Given the description of an element on the screen output the (x, y) to click on. 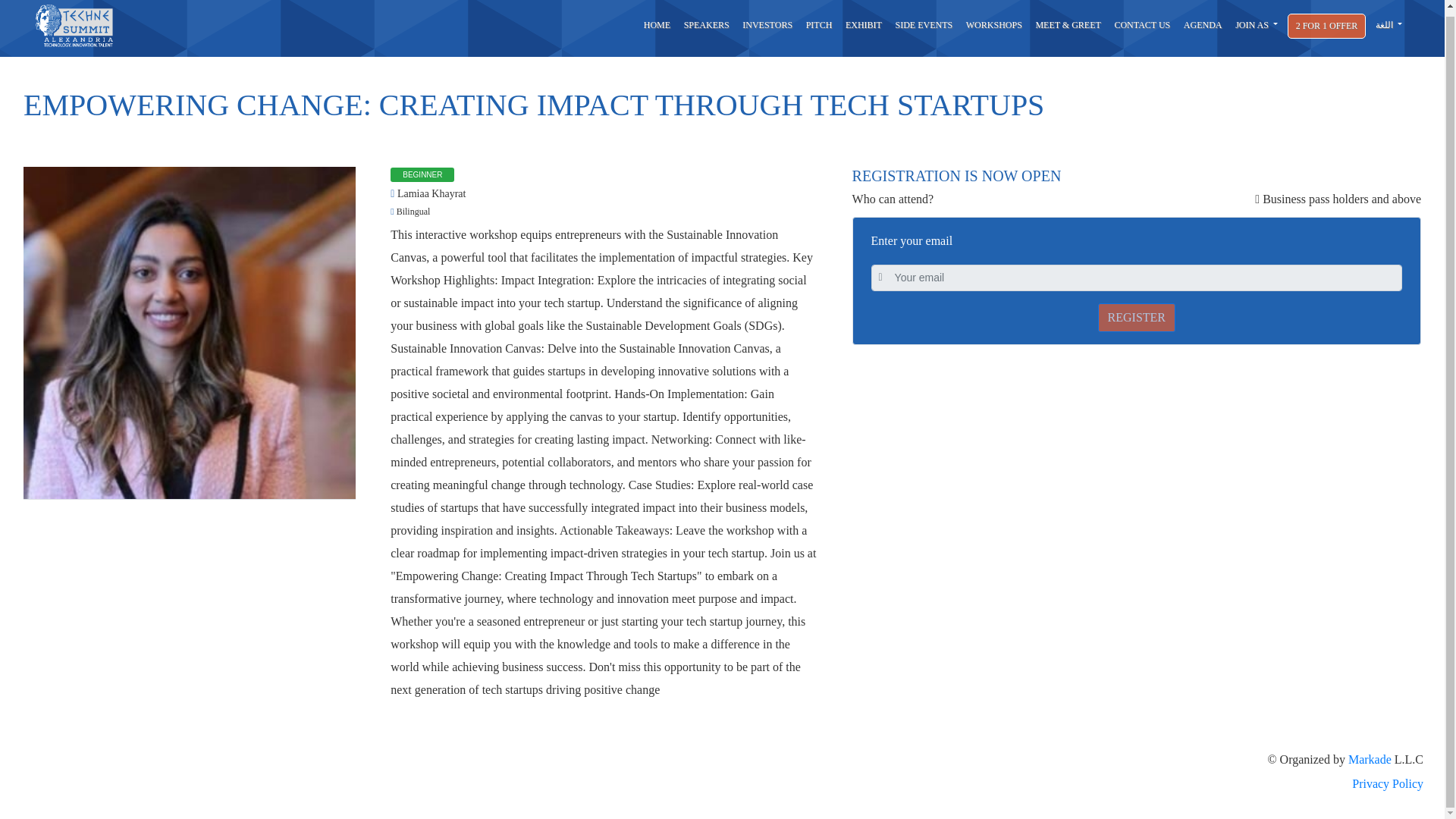
SPEAKERS (706, 24)
INVESTORS (766, 24)
2 FOR 1 OFFER (1327, 25)
PITCH (818, 24)
Markade (1369, 758)
WORKSHOPS (994, 24)
REGISTER (1135, 317)
privacy-policy (722, 783)
CONTACT US (1141, 24)
SIDE EVENTS (923, 24)
AGENDA (1202, 24)
JOIN AS (1256, 24)
HOME (657, 24)
Privacy Policy (722, 783)
EXHIBIT (863, 24)
